Given the description of an element on the screen output the (x, y) to click on. 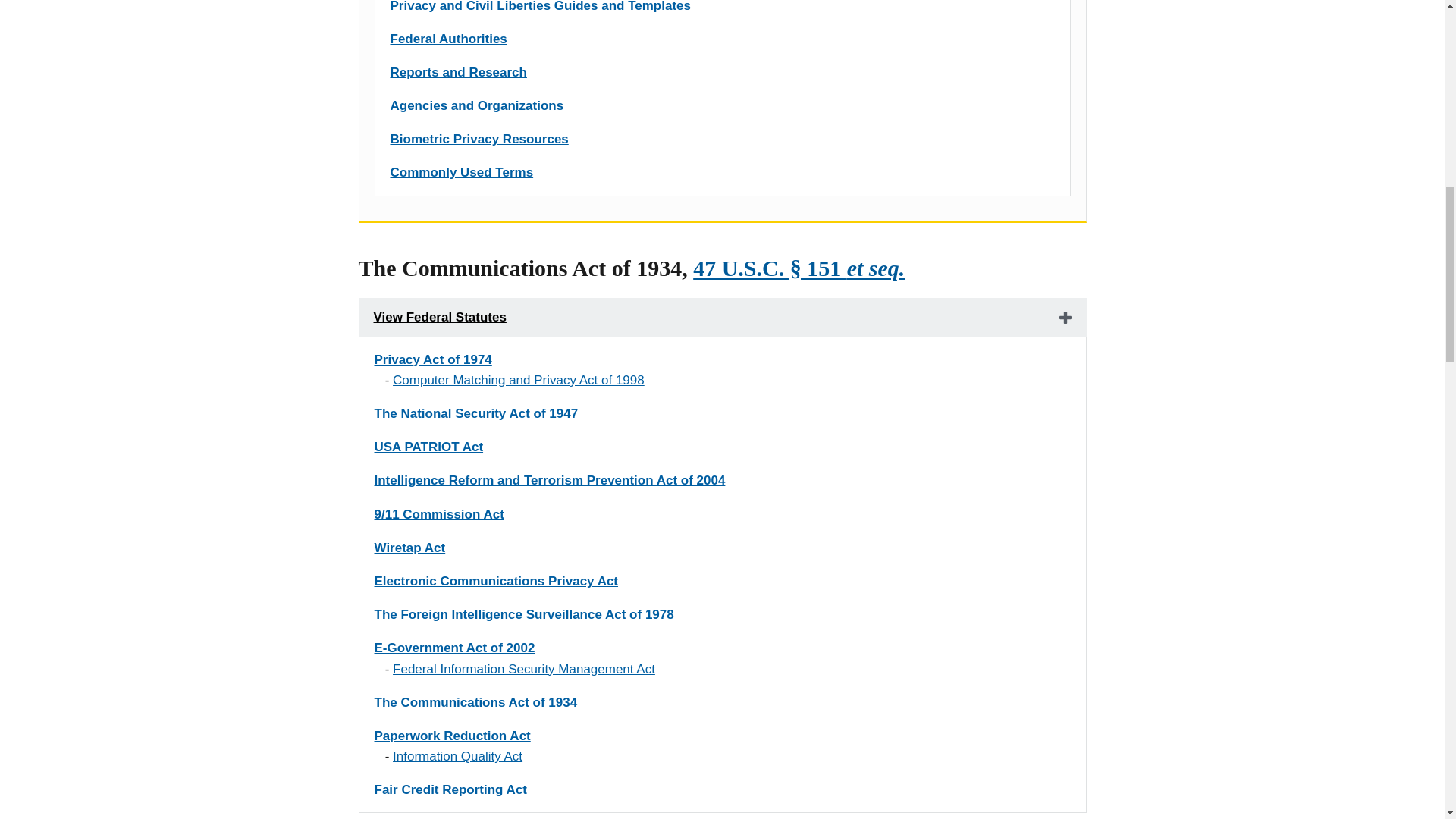
Privacy and Civil Liberties Guides and Templates (540, 6)
Reports and Research (457, 72)
Agencies and Organizations (476, 105)
Privacy and Civil Liberties Guides and Templates (540, 6)
Federal Authorities (448, 38)
